Given the description of an element on the screen output the (x, y) to click on. 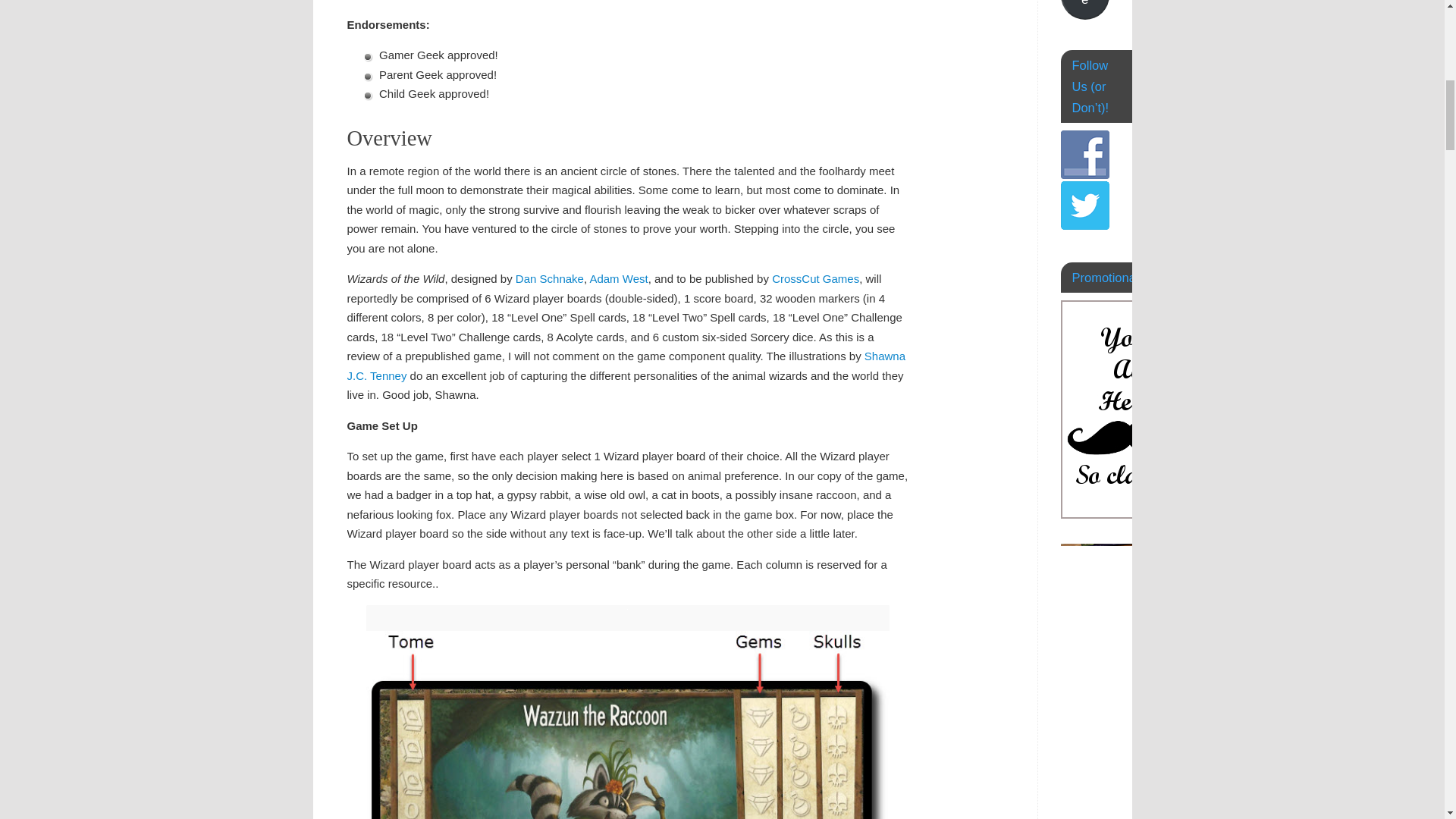
CrossCut Games (815, 278)
Adam West (618, 278)
Shawna J.C. Tenney (626, 365)
Dan Schnake (549, 278)
